Given the description of an element on the screen output the (x, y) to click on. 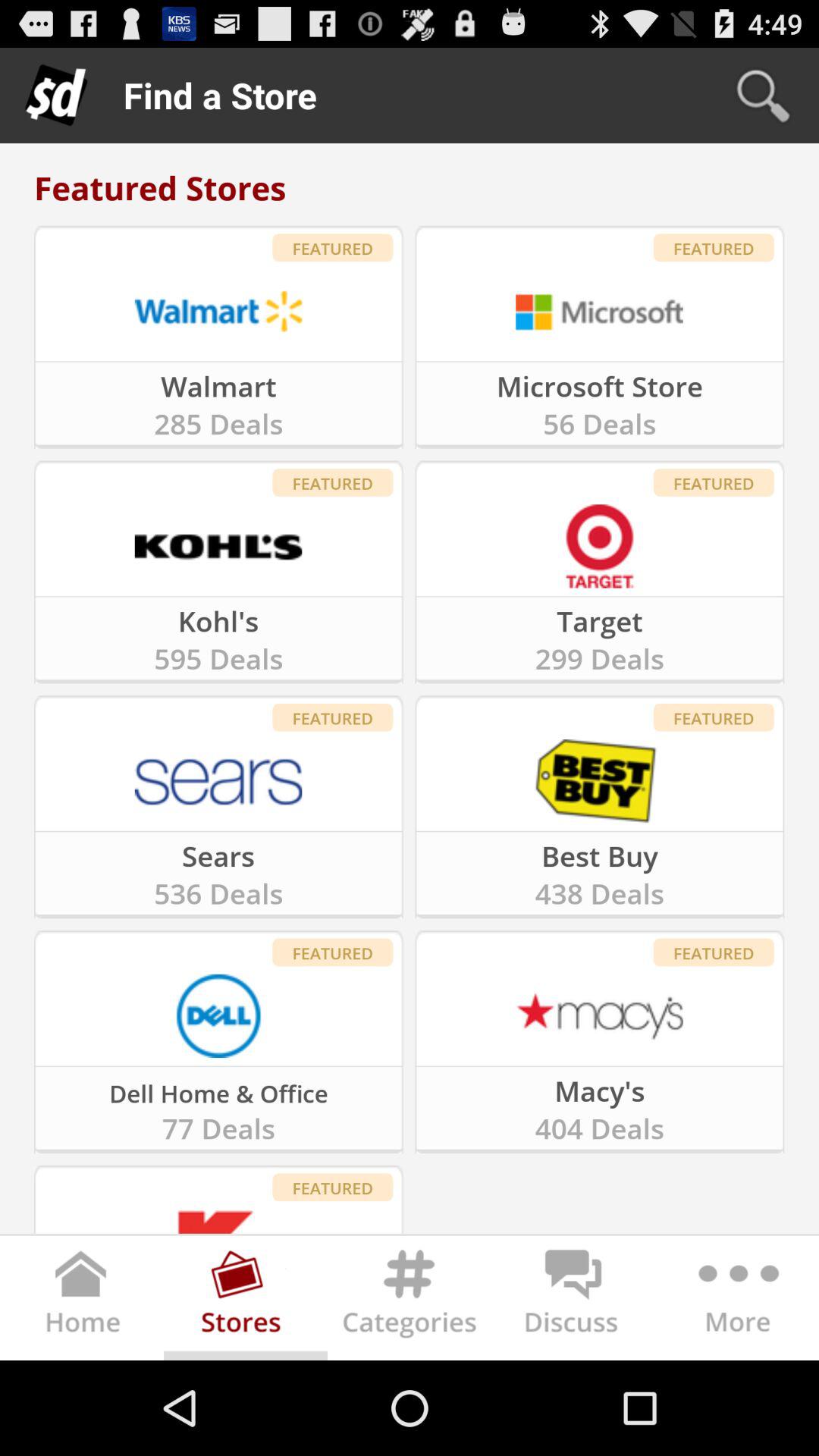
search categories (409, 1301)
